Given the description of an element on the screen output the (x, y) to click on. 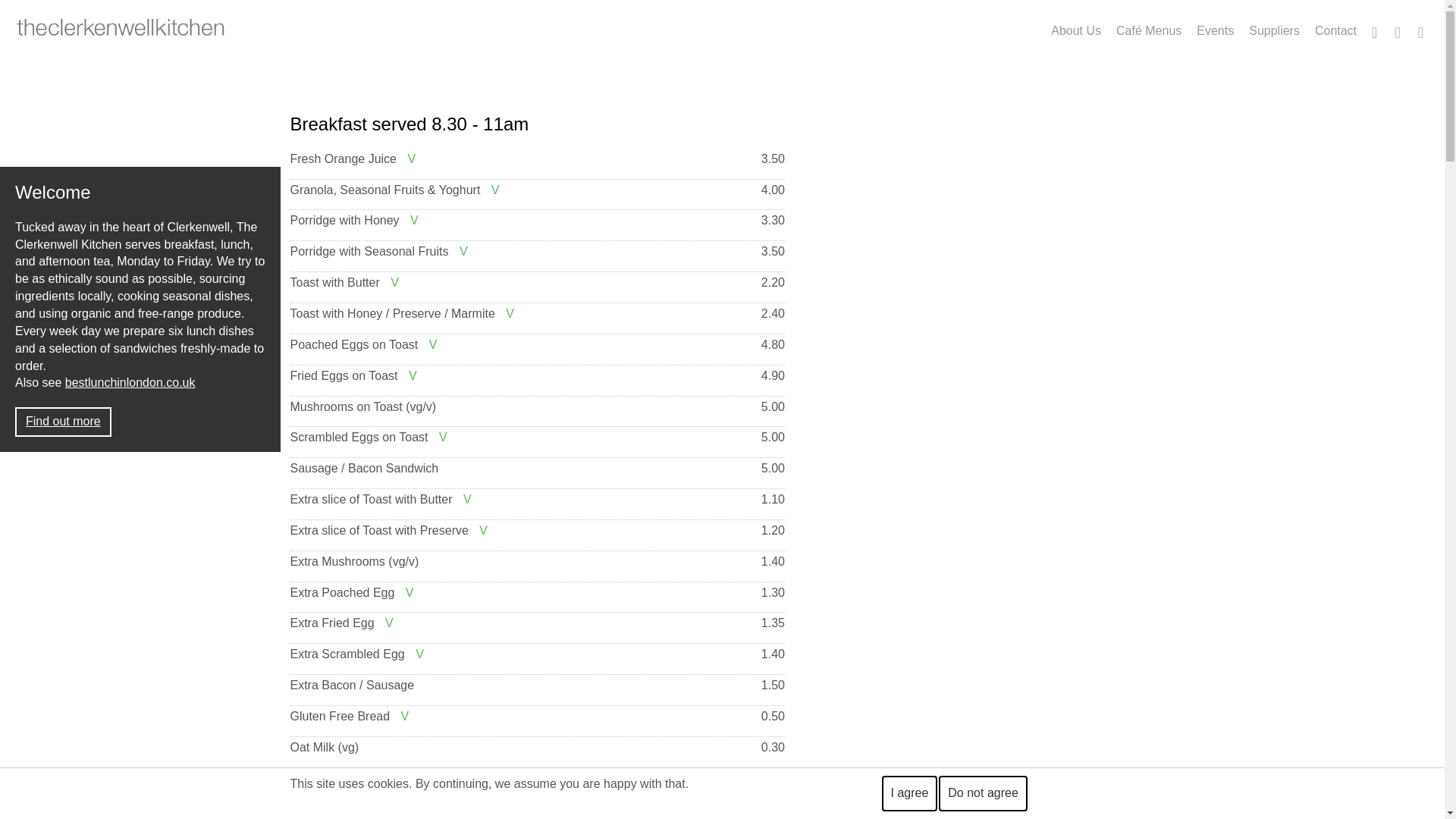
Find out more (63, 421)
Events (1215, 23)
bestlunchinlondon.co.uk (130, 382)
I agree (908, 793)
Do not agree (983, 793)
About Us (1075, 23)
Contact (1335, 23)
Suppliers (1274, 23)
Find out more (63, 421)
